Given the description of an element on the screen output the (x, y) to click on. 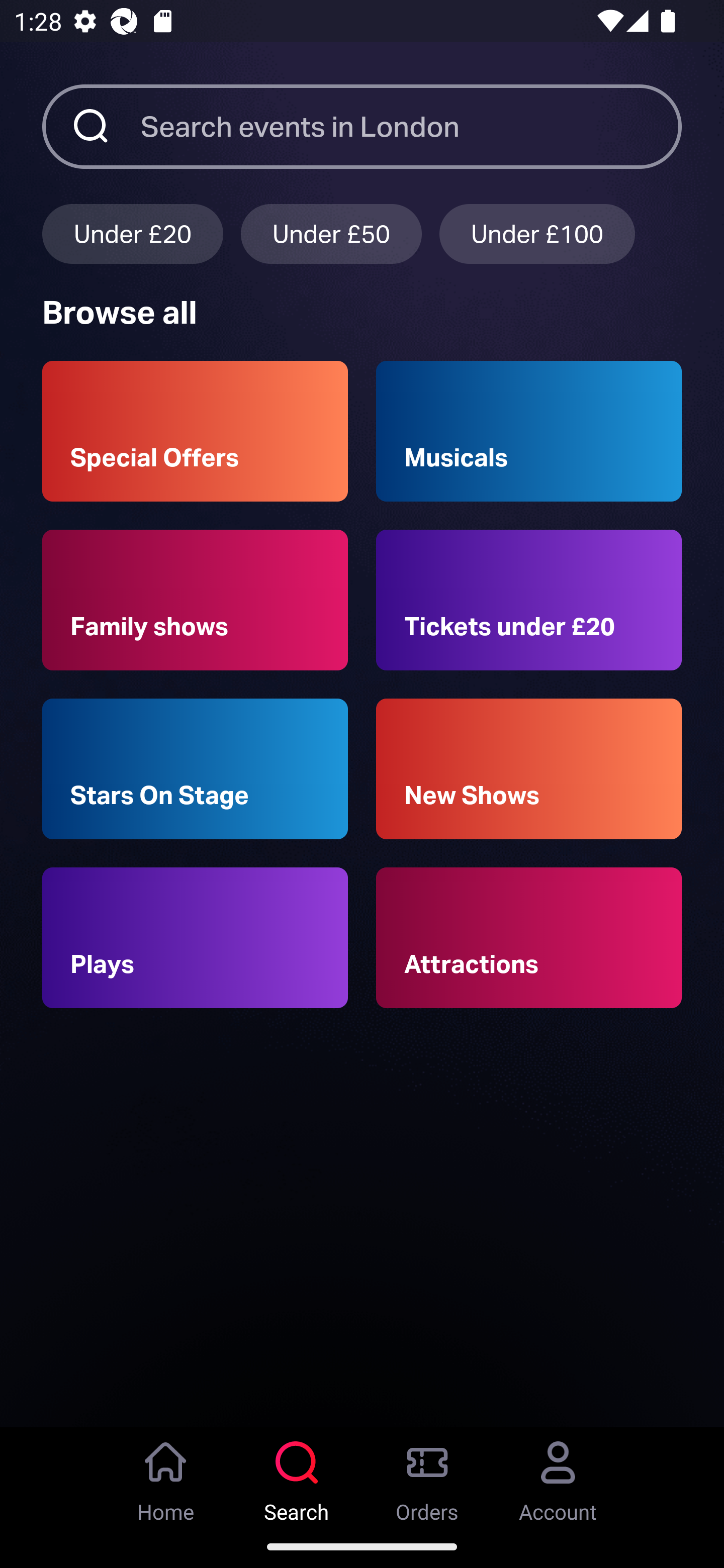
Search events in London (411, 126)
Under £20 (131, 233)
Under £50 (331, 233)
Under £100 (536, 233)
Special Offers (194, 430)
Musicals (528, 430)
Family shows (194, 600)
Tickets under £20  (528, 600)
Stars On Stage (194, 768)
New Shows (528, 768)
Plays (194, 937)
Attractions  (528, 937)
Home (165, 1475)
Orders (427, 1475)
Account (558, 1475)
